Given the description of an element on the screen output the (x, y) to click on. 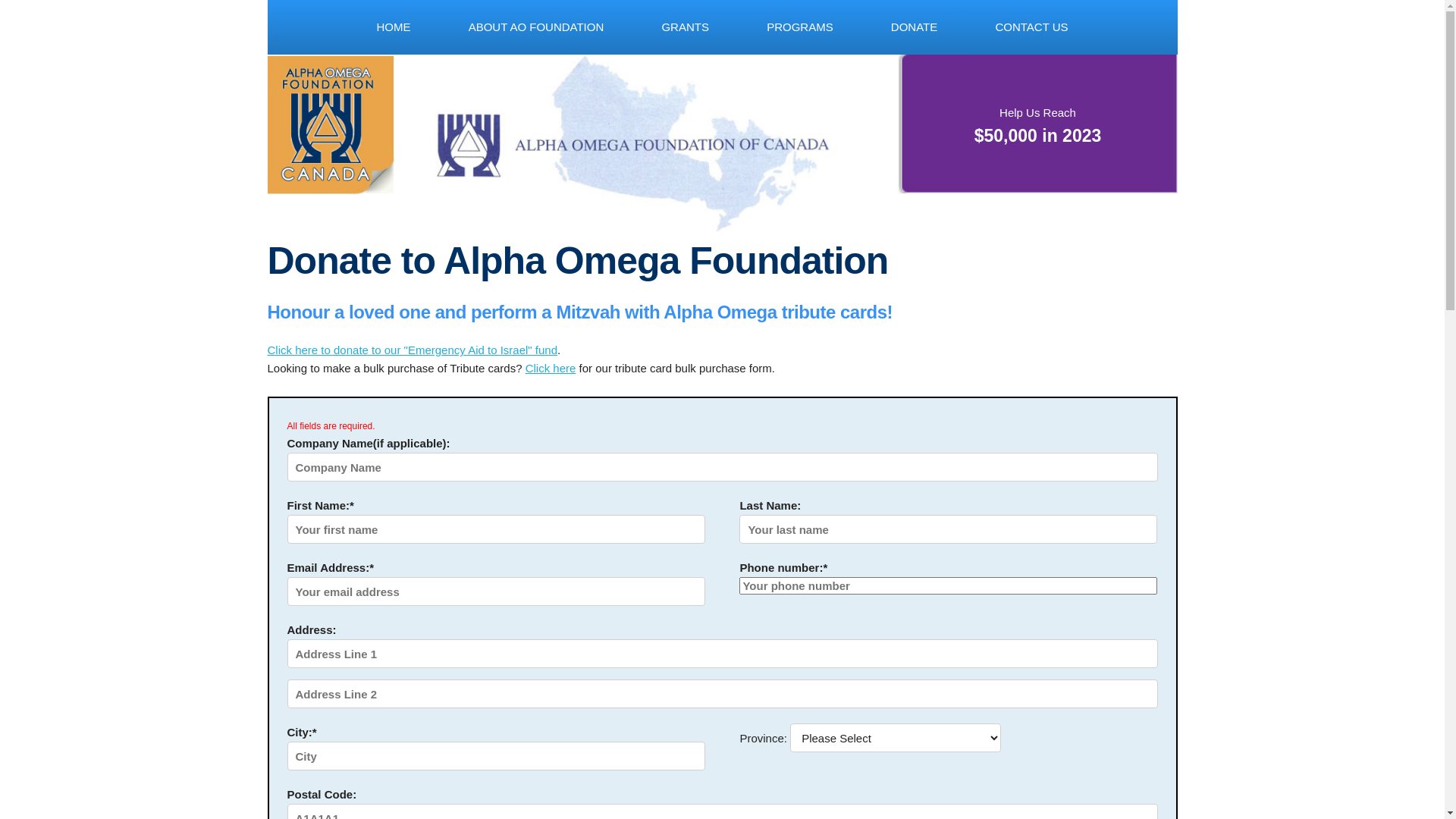
Click here Element type: text (550, 367)
CONTACT US Element type: text (1031, 27)
ABOUT AO FOUNDATION Element type: text (536, 27)
HOME Element type: text (392, 27)
Click here to donate to our "Emergency Aid to Israel" fund Element type: text (411, 349)
DONATE Element type: text (913, 27)
PROGRAMS Element type: text (799, 27)
GRANTS Element type: text (684, 27)
